Given the description of an element on the screen output the (x, y) to click on. 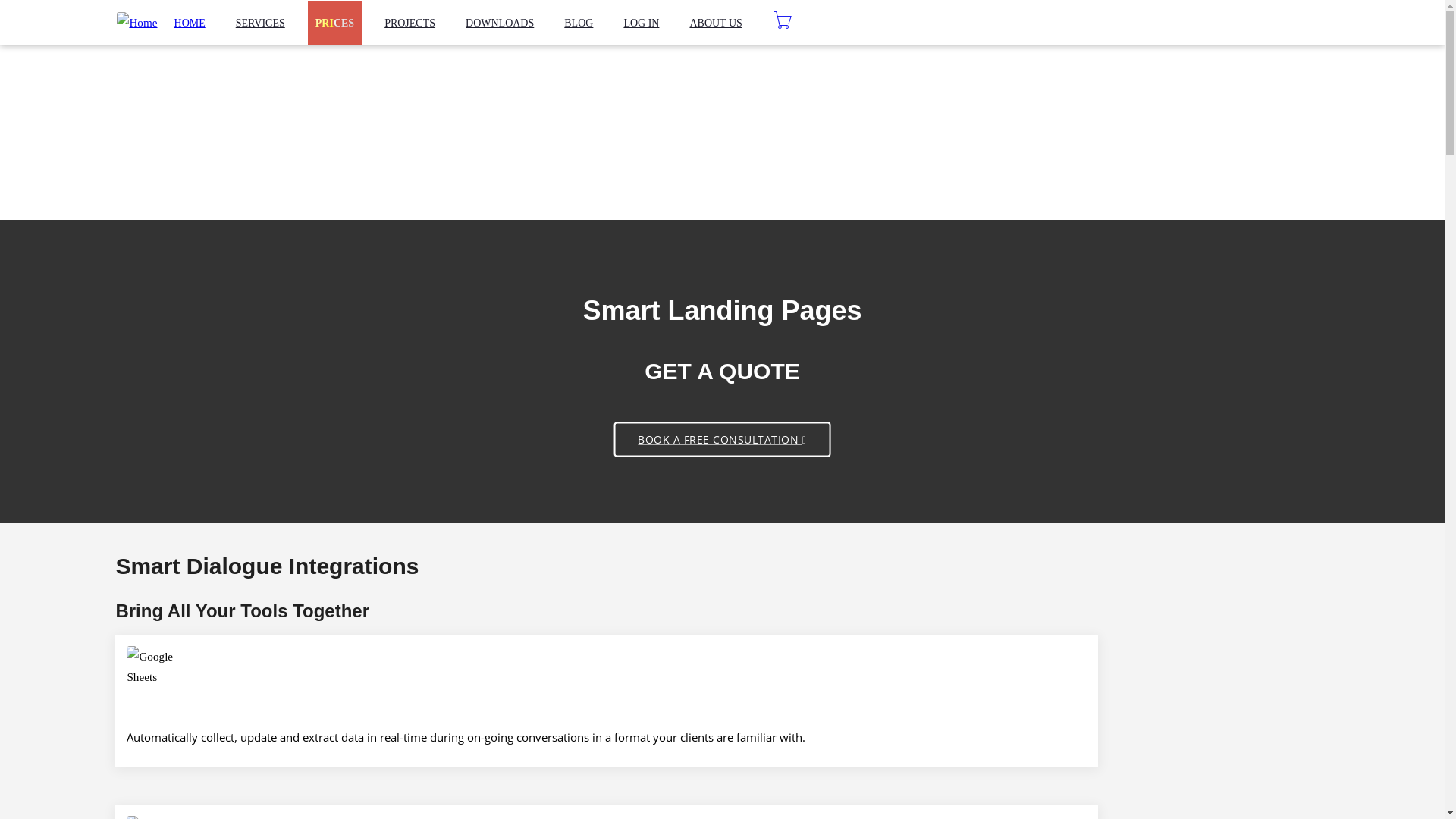
+1-647-640-7557 Element type: text (156, 16)
BLOG Element type: text (578, 22)
ORDER Element type: text (1063, 18)
BOOK A FREE CONSULTATION Element type: text (721, 438)
info@bigpicture360.ca Element type: text (260, 16)
ABOUT US Element type: text (715, 22)
HOME Element type: text (189, 22)
DOWNLOADS Element type: text (499, 22)
SERVICES Element type: text (260, 22)
PRICES Element type: text (334, 22)
PROJECTS Element type: text (409, 22)
LOG IN Element type: text (640, 22)
